Given the description of an element on the screen output the (x, y) to click on. 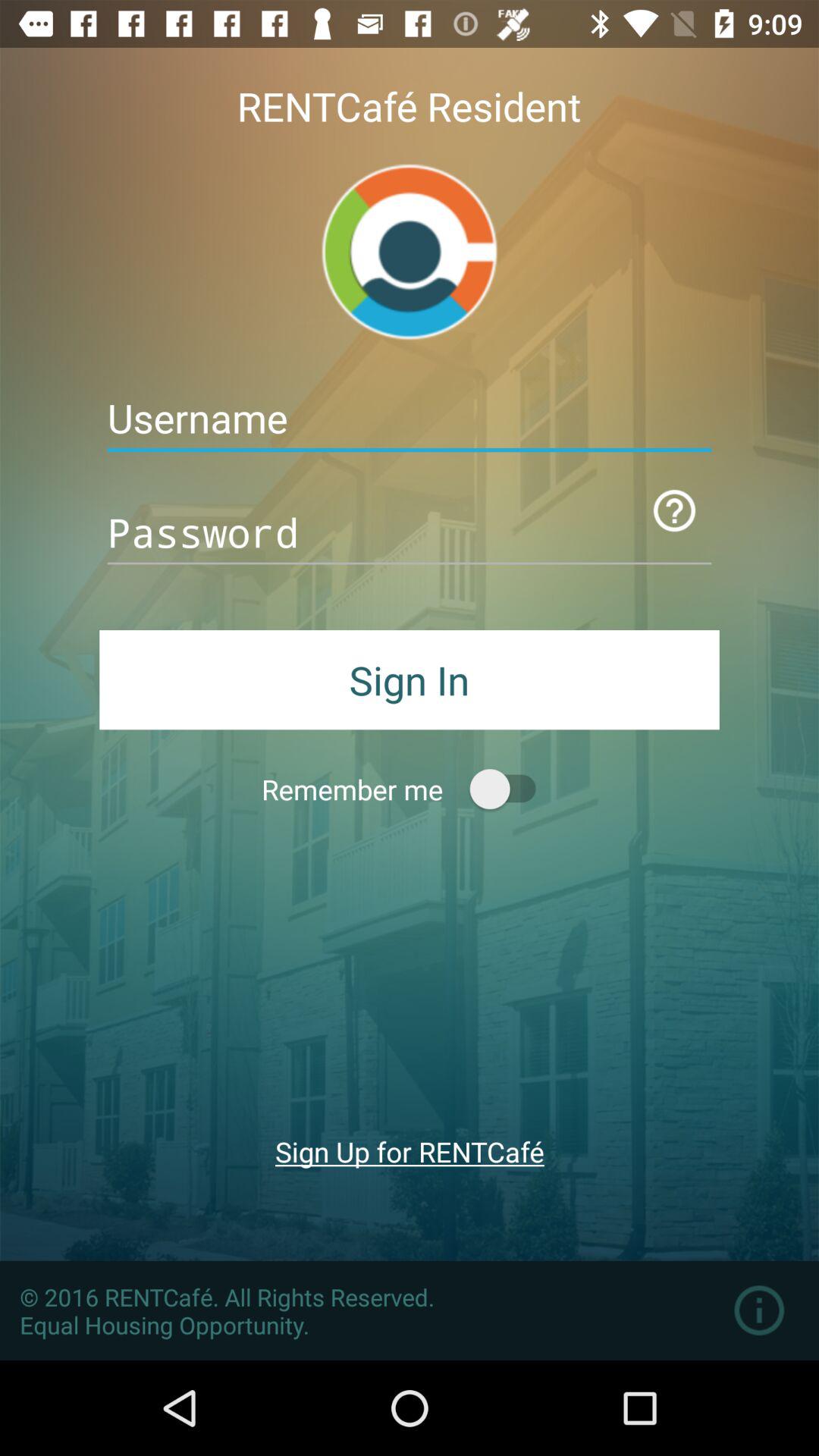
view information (759, 1310)
